Given the description of an element on the screen output the (x, y) to click on. 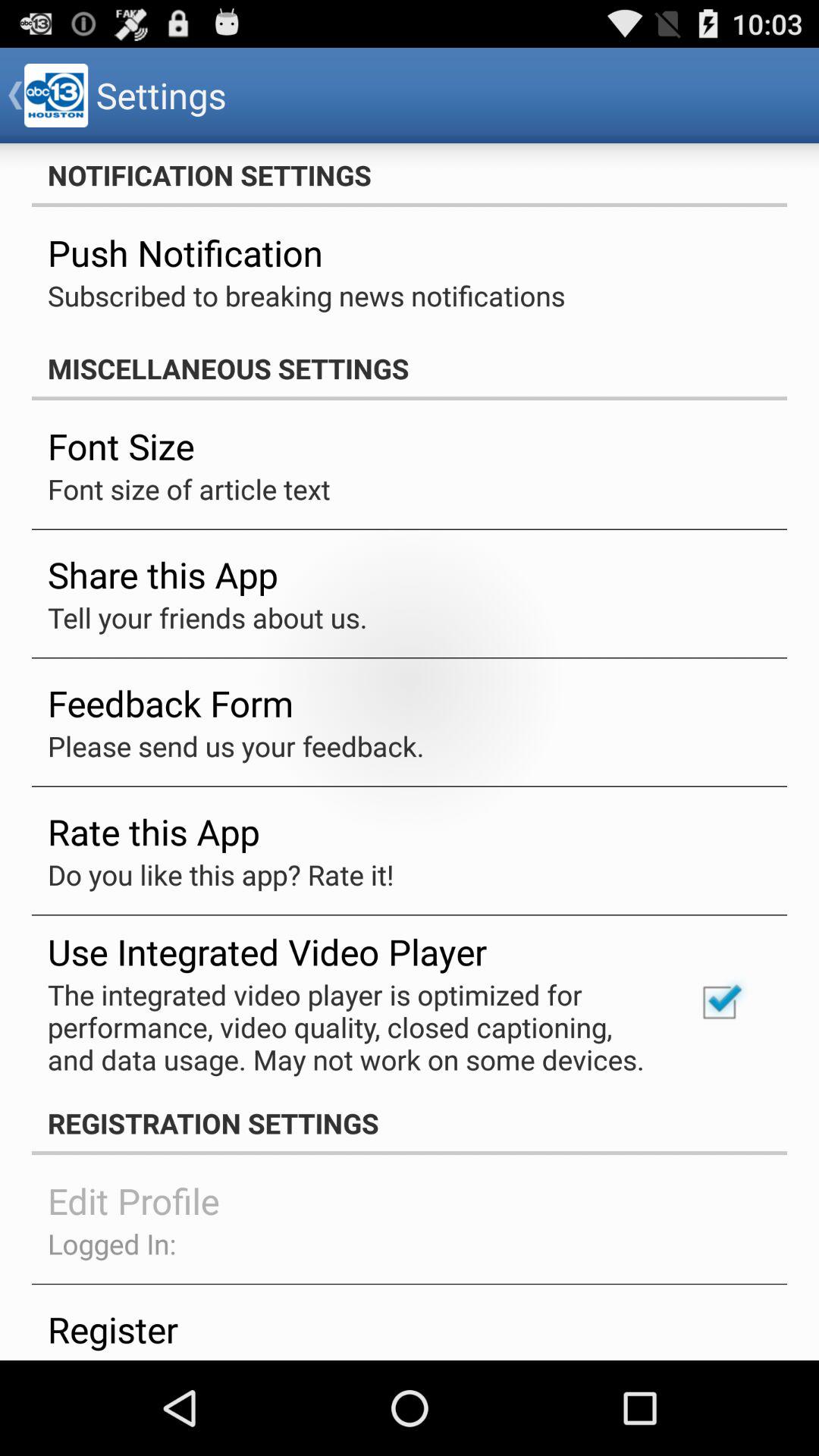
select the button right to use integrated video player (719, 1002)
